Given the description of an element on the screen output the (x, y) to click on. 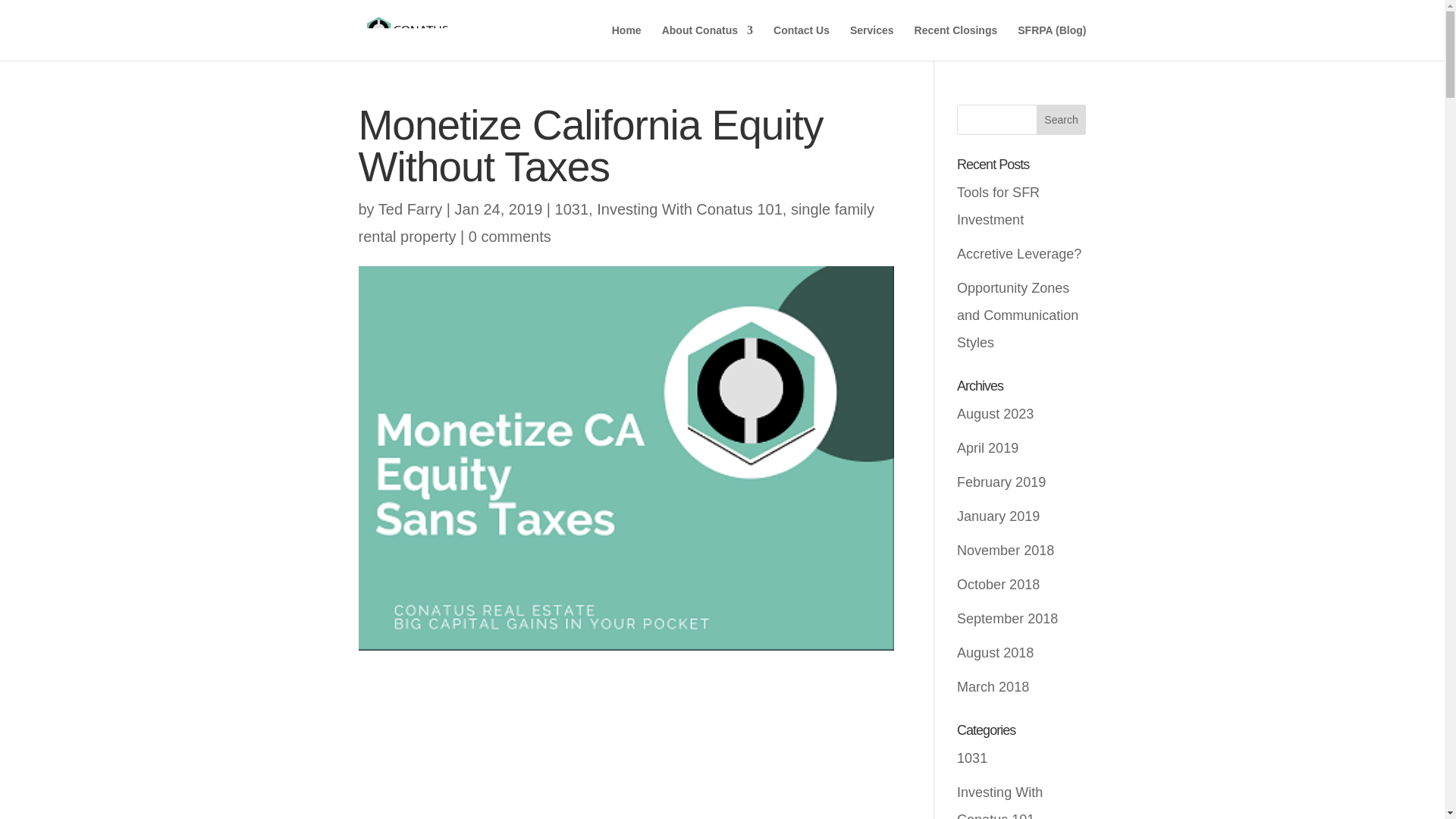
1031 (971, 758)
Investing With Conatus 101 (999, 801)
Posts by Ted Farry (410, 208)
October 2018 (997, 584)
April 2019 (986, 447)
August 2023 (994, 413)
1031 (571, 208)
0 comments (509, 236)
Opportunity Zones and Communication Styles (1017, 315)
September 2018 (1007, 618)
